Given the description of an element on the screen output the (x, y) to click on. 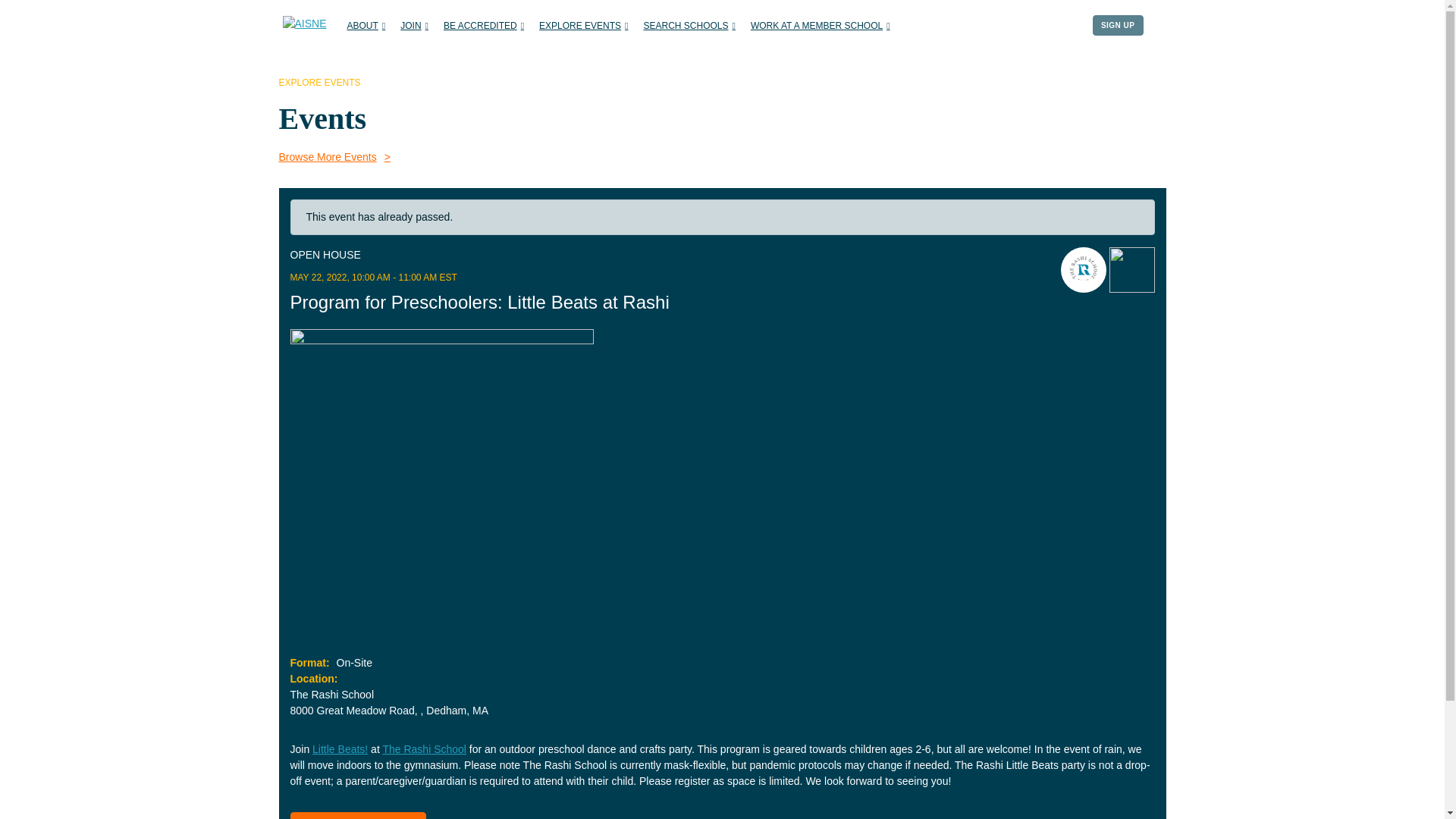
JOIN (414, 25)
BE ACCREDITED (484, 25)
SEARCH SCHOOLS (689, 25)
ABOUT (366, 25)
EXPLORE EVENTS (582, 25)
Little Beats! (340, 748)
WORK AT A MEMBER SCHOOL (820, 25)
Browse More Events (722, 157)
SIGN UP (1117, 25)
